Given the description of an element on the screen output the (x, y) to click on. 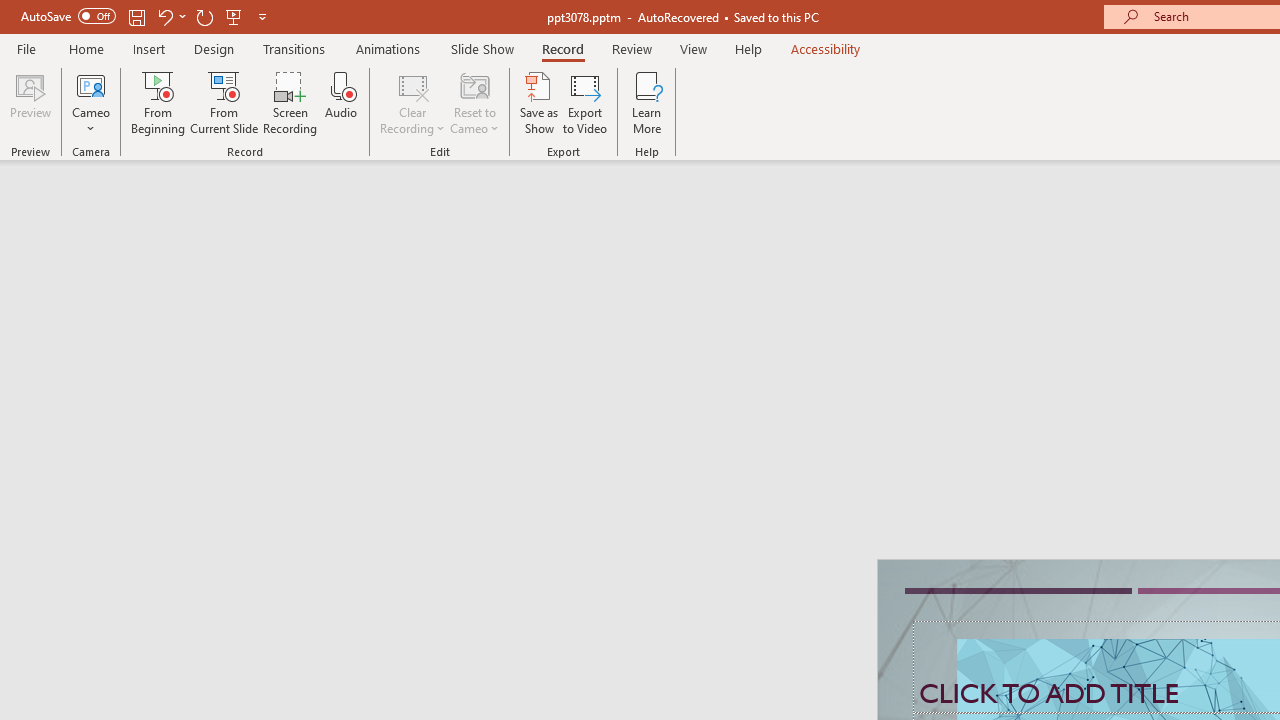
Microsoft security help and learning (42, 613)
Close Dialog (959, 681)
Explorer actions (391, 322)
Views and More Actions... (442, 321)
Search (Ctrl+Shift+F) (135, 466)
Source Control (Ctrl+Shift+G) (135, 544)
Run and Debug (Ctrl+Shift+D) (135, 622)
Class: actions-container (529, 681)
